Given the description of an element on the screen output the (x, y) to click on. 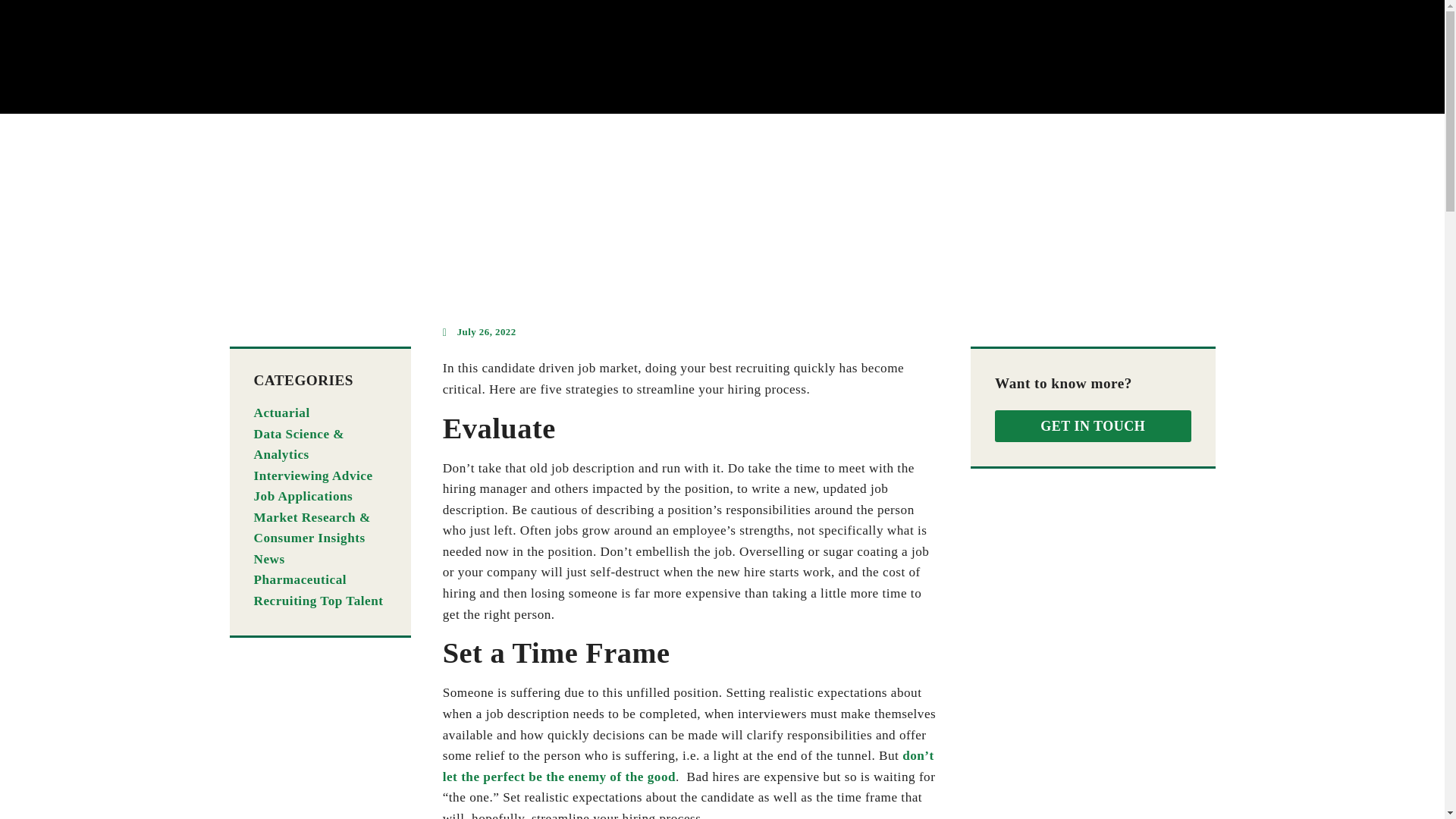
Interviewing Advice (312, 475)
Job Applications (302, 495)
Actuarial (280, 412)
Recruiting Top Talent (317, 600)
July 26, 2022 (479, 332)
GET IN TOUCH (1092, 426)
News (268, 559)
Pharmaceutical (299, 579)
